Given the description of an element on the screen output the (x, y) to click on. 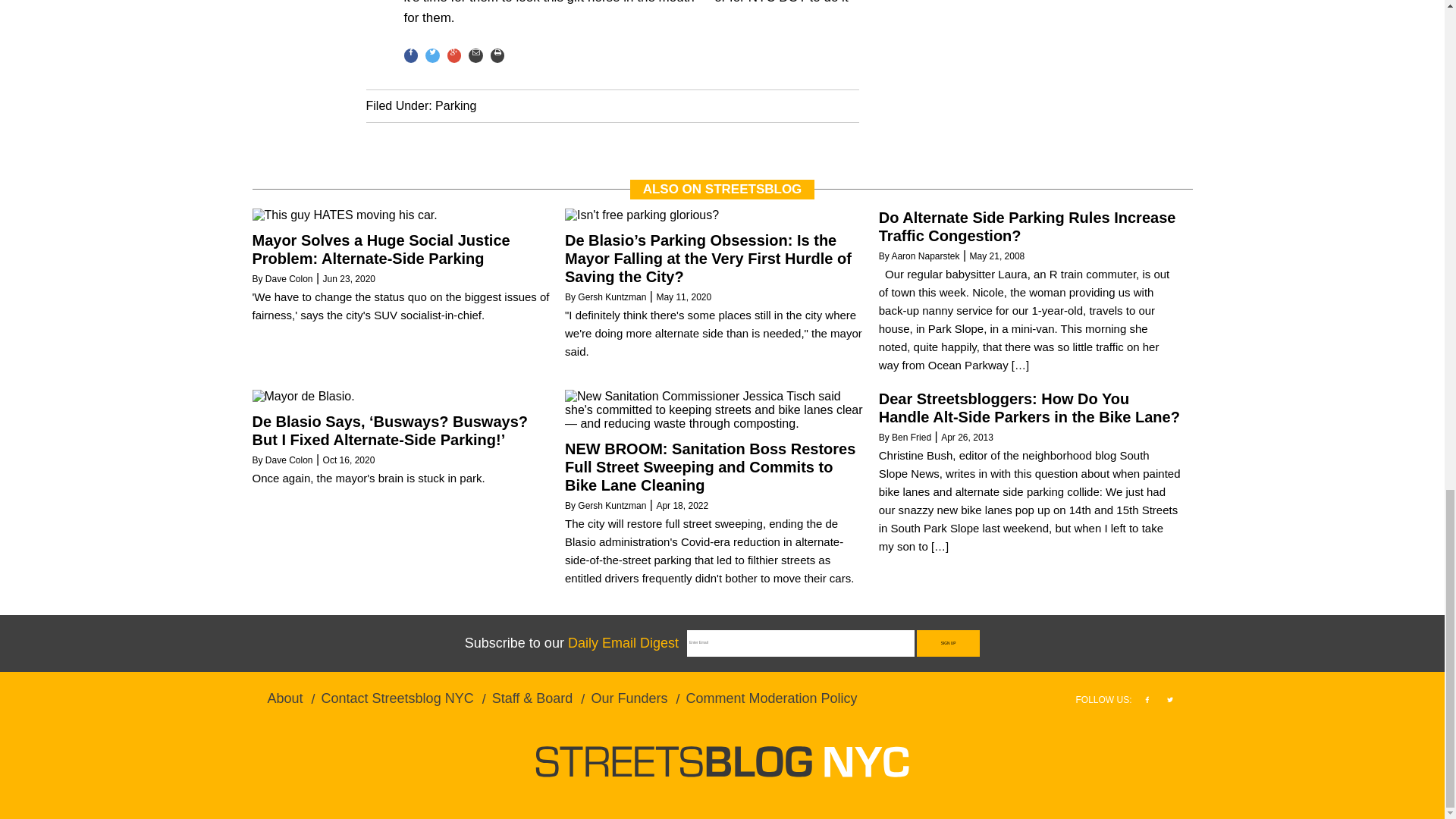
Streetsblog NYC Logo (721, 761)
